Given the description of an element on the screen output the (x, y) to click on. 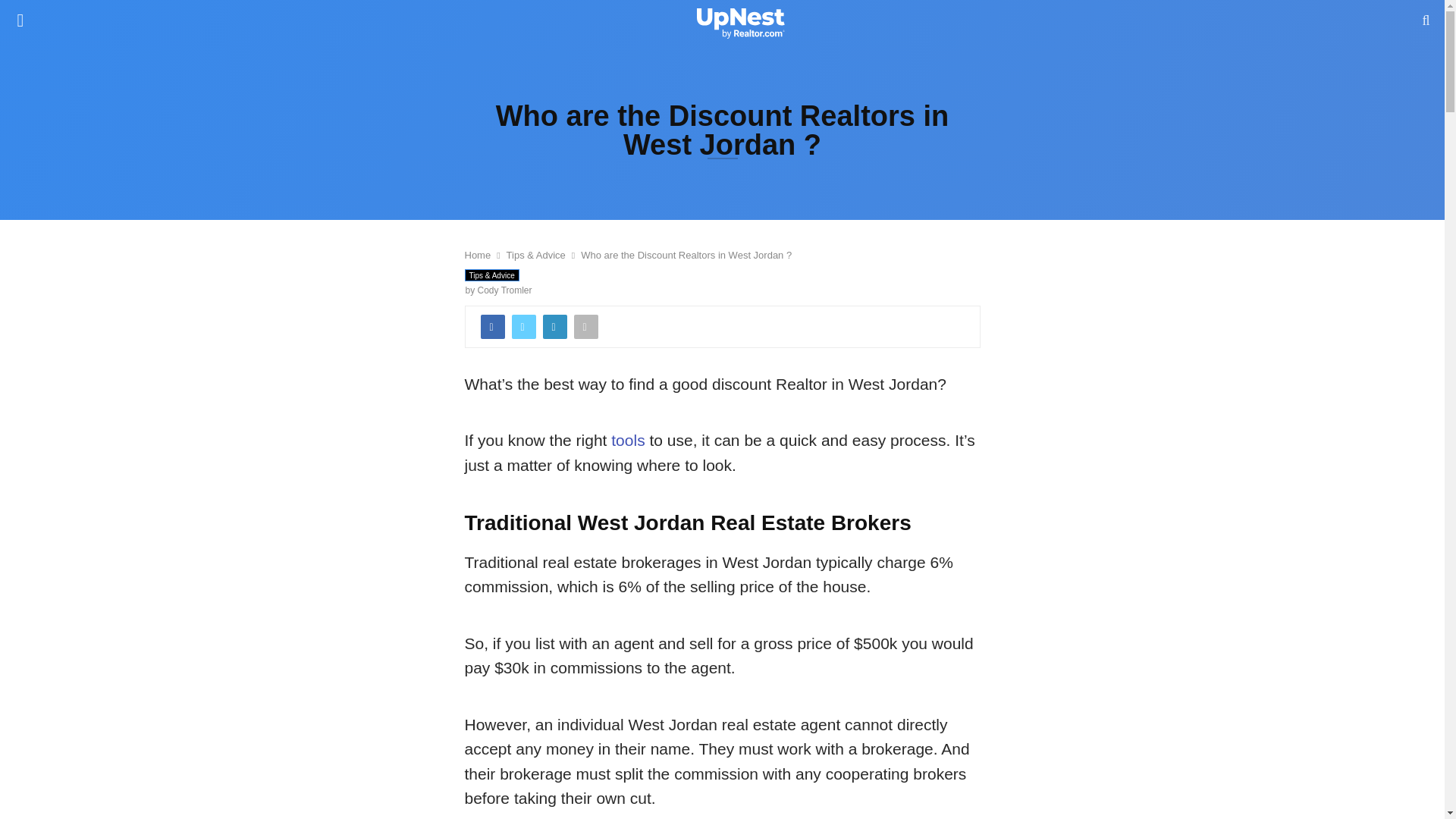
Who are the Discount Realtors in West Jordan ? (686, 255)
tools (628, 439)
Home (477, 255)
Cody Tromler (504, 290)
PRIMARY MENU (20, 20)
